Given the description of an element on the screen output the (x, y) to click on. 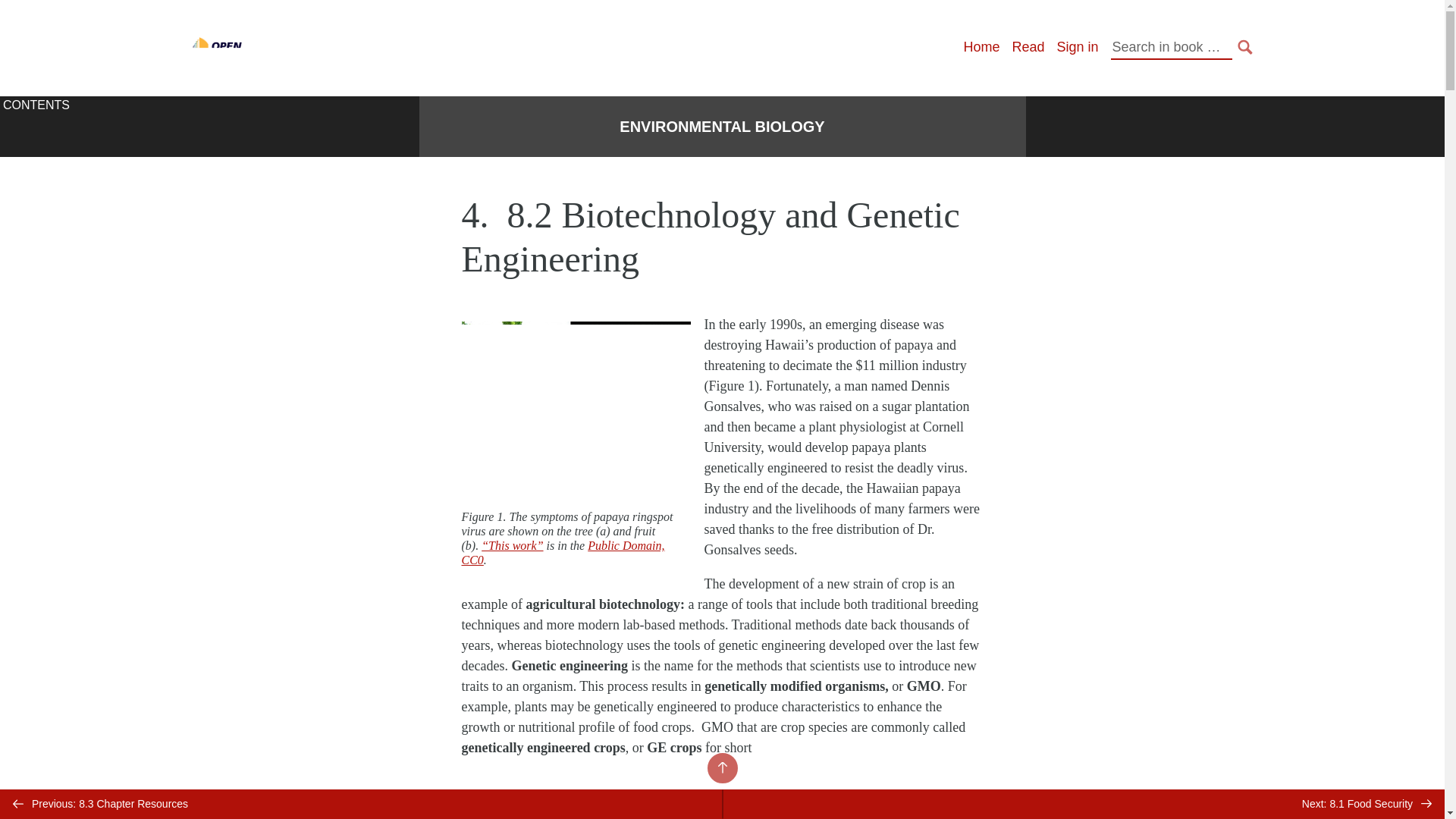
Home (980, 46)
Sign in (1077, 46)
BACK TO TOP (721, 767)
Public Domain, CC0 (562, 552)
Read (1027, 46)
Previous: 8.3 Chapter Resources (361, 804)
ENVIRONMENTAL BIOLOGY (722, 126)
Previous: 8.3 Chapter Resources (361, 804)
